Given the description of an element on the screen output the (x, y) to click on. 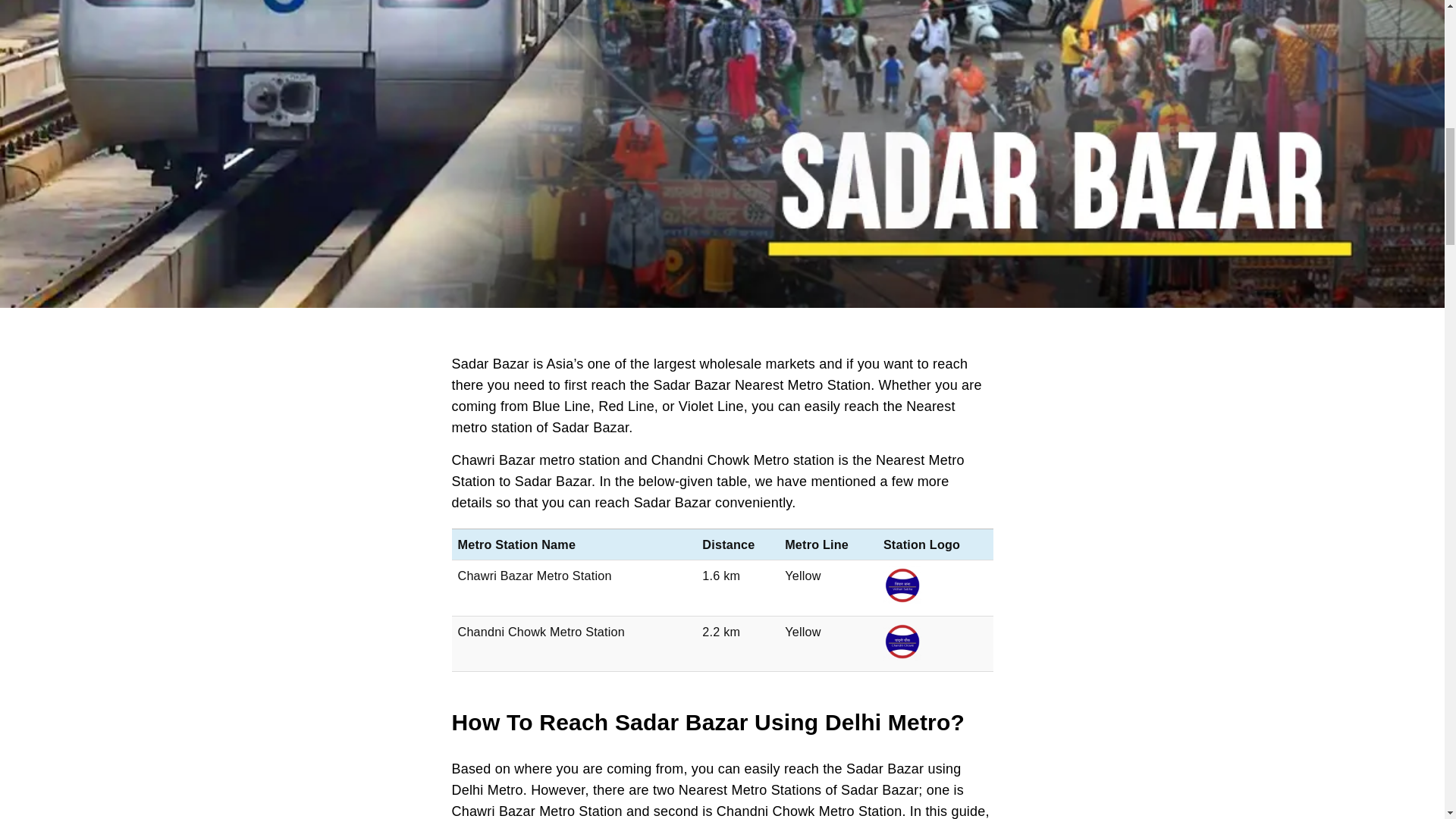
Metro Station Name Distance Metro Line Station Logo (721, 543)
Metro Station Name Distance Metro Line Station Logo (721, 543)
